Given the description of an element on the screen output the (x, y) to click on. 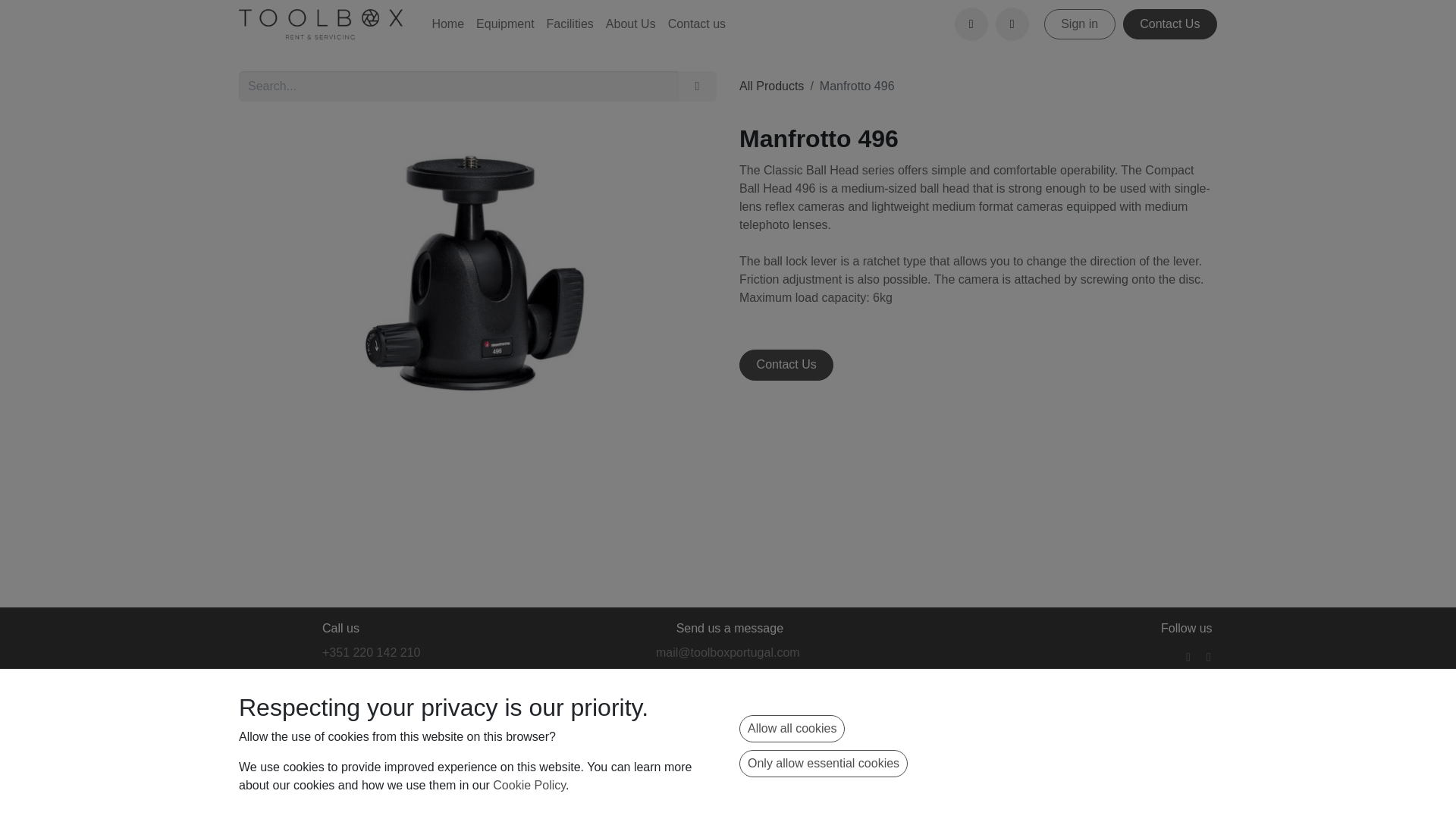
TBX-Rent and Servicing, LDA (320, 23)
Contact Us (785, 364)
Search (1012, 23)
Home (447, 24)
Search (697, 86)
Sign in (1079, 24)
Contact us (697, 24)
Online complaints book (1007, 724)
Facilities (569, 24)
Privacy Policy (1084, 724)
Equipment (505, 24)
Scroll To Top (256, 746)
All Products (771, 85)
Contact Us (1169, 24)
About Us (630, 24)
